Given the description of an element on the screen output the (x, y) to click on. 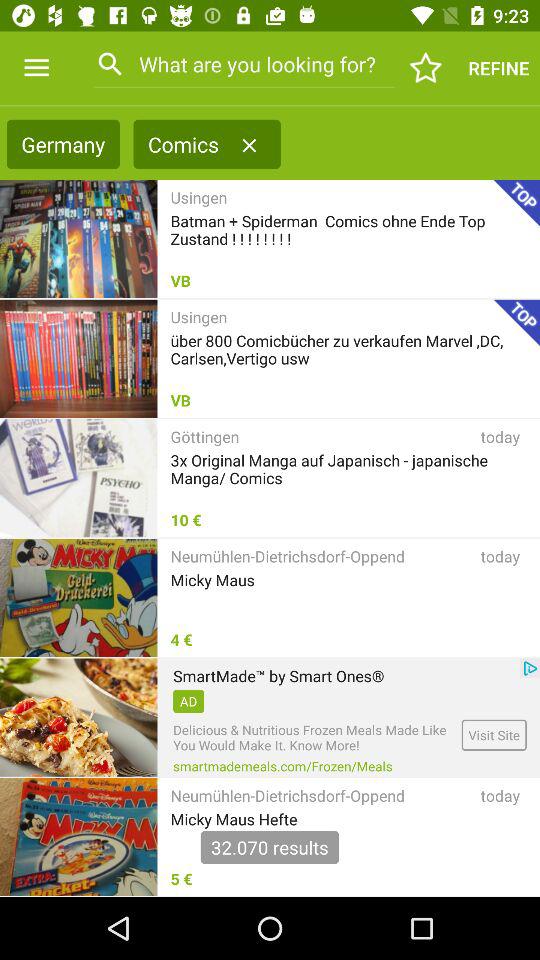
turn off item to the right of comics item (249, 145)
